Given the description of an element on the screen output the (x, y) to click on. 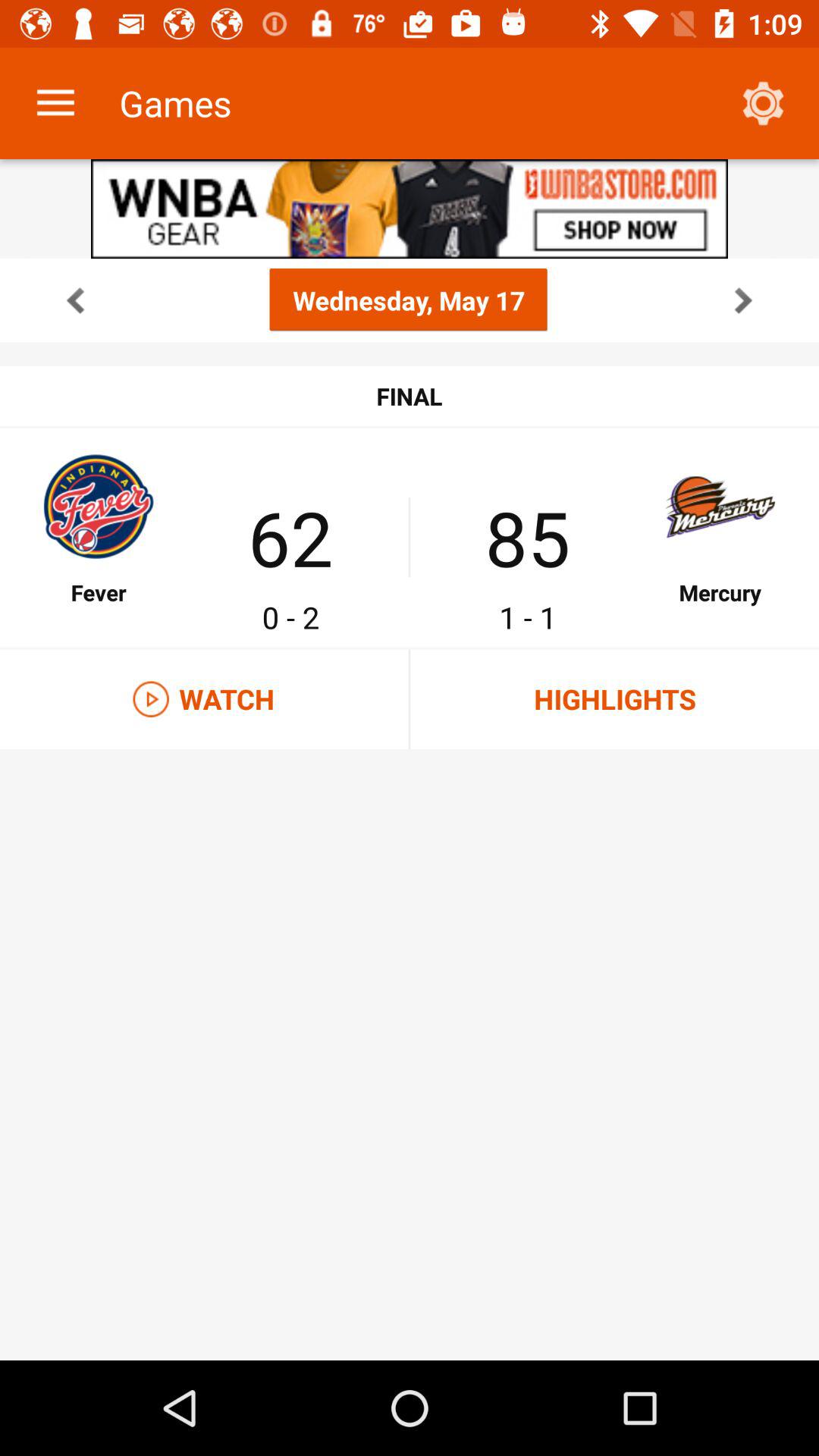
to move forward/next day (743, 300)
